Given the description of an element on the screen output the (x, y) to click on. 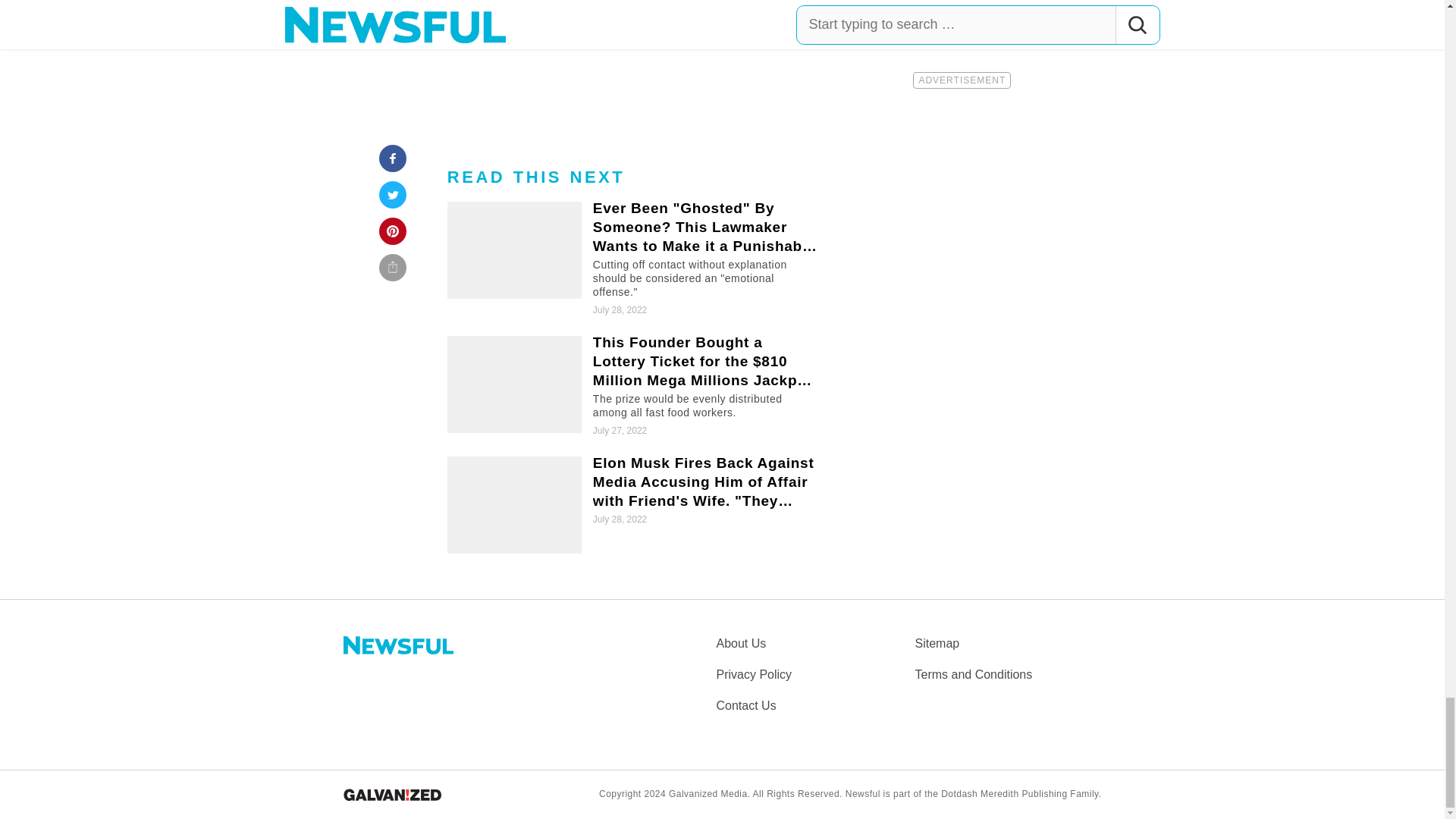
Homepage of Newsful (398, 644)
Galvanized Media Logo (391, 794)
